Given the description of an element on the screen output the (x, y) to click on. 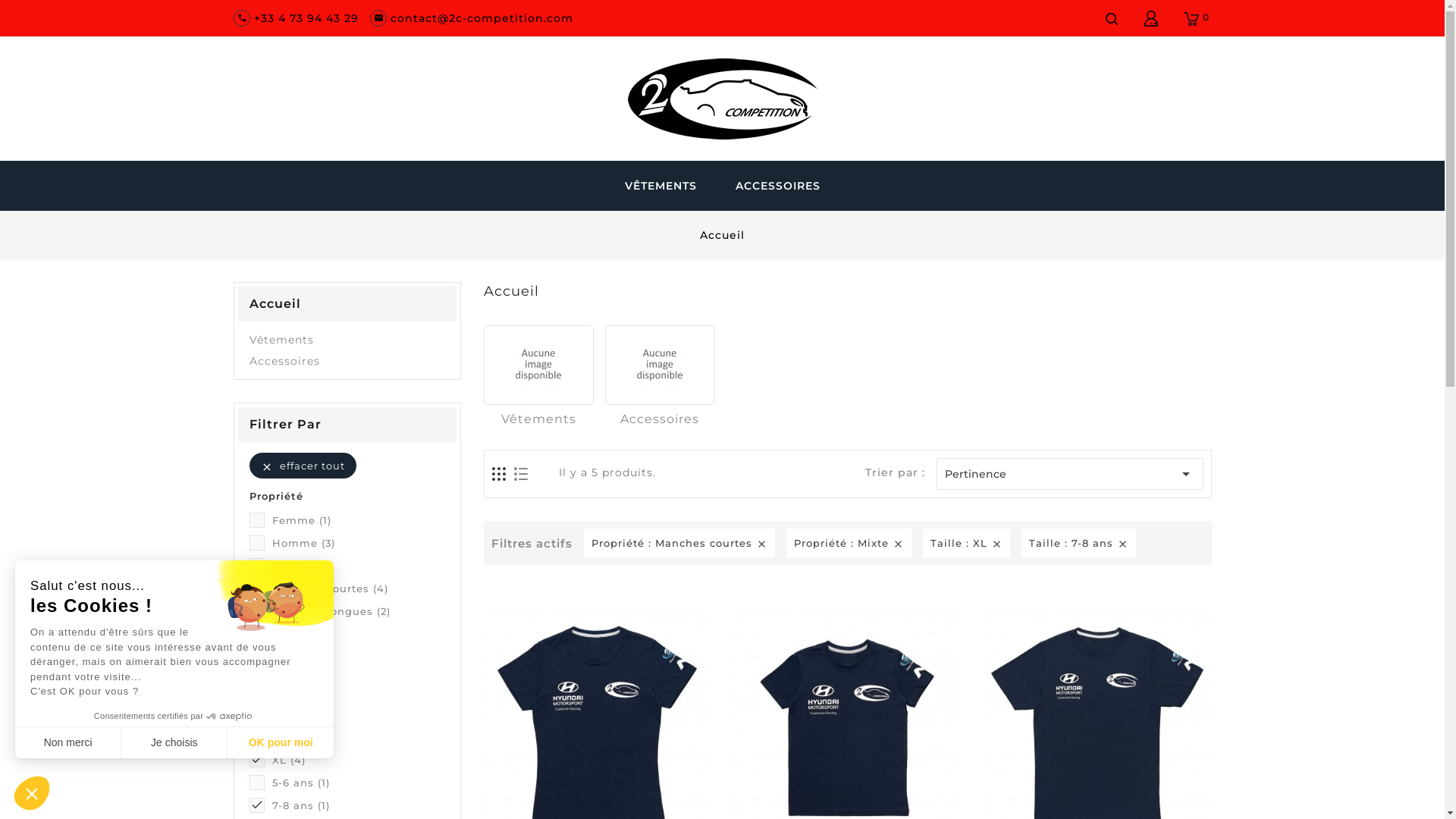
Femme (1) Element type: text (357, 519)
M (5) Element type: text (357, 713)
Accessoires Element type: hover (660, 364)
Close the widget without accepting cookie settings Element type: hover (31, 793)
Accessoires Element type: text (346, 360)
Accessoires Element type: text (659, 418)
Manches courtes (4) Element type: text (357, 588)
Accueil Element type: text (347, 303)
5-6 ans (1) Element type: text (357, 782)
Junior (1) Element type: text (357, 565)
Manches longues (2) Element type: text (357, 610)
Non merci Element type: text (68, 742)
7-8 ans (1) Element type: text (357, 804)
ACCESSOIRES Element type: text (777, 185)
Je choisis Element type: text (174, 742)
0 Element type: text (1192, 18)
S (4) Element type: text (357, 691)
Mixte (1) Element type: text (357, 633)
Homme (3) Element type: text (357, 542)
OK pour moi Element type: text (280, 742)
L (5) Element type: text (357, 736)
XL (4) Element type: text (357, 759)
